Given the description of an element on the screen output the (x, y) to click on. 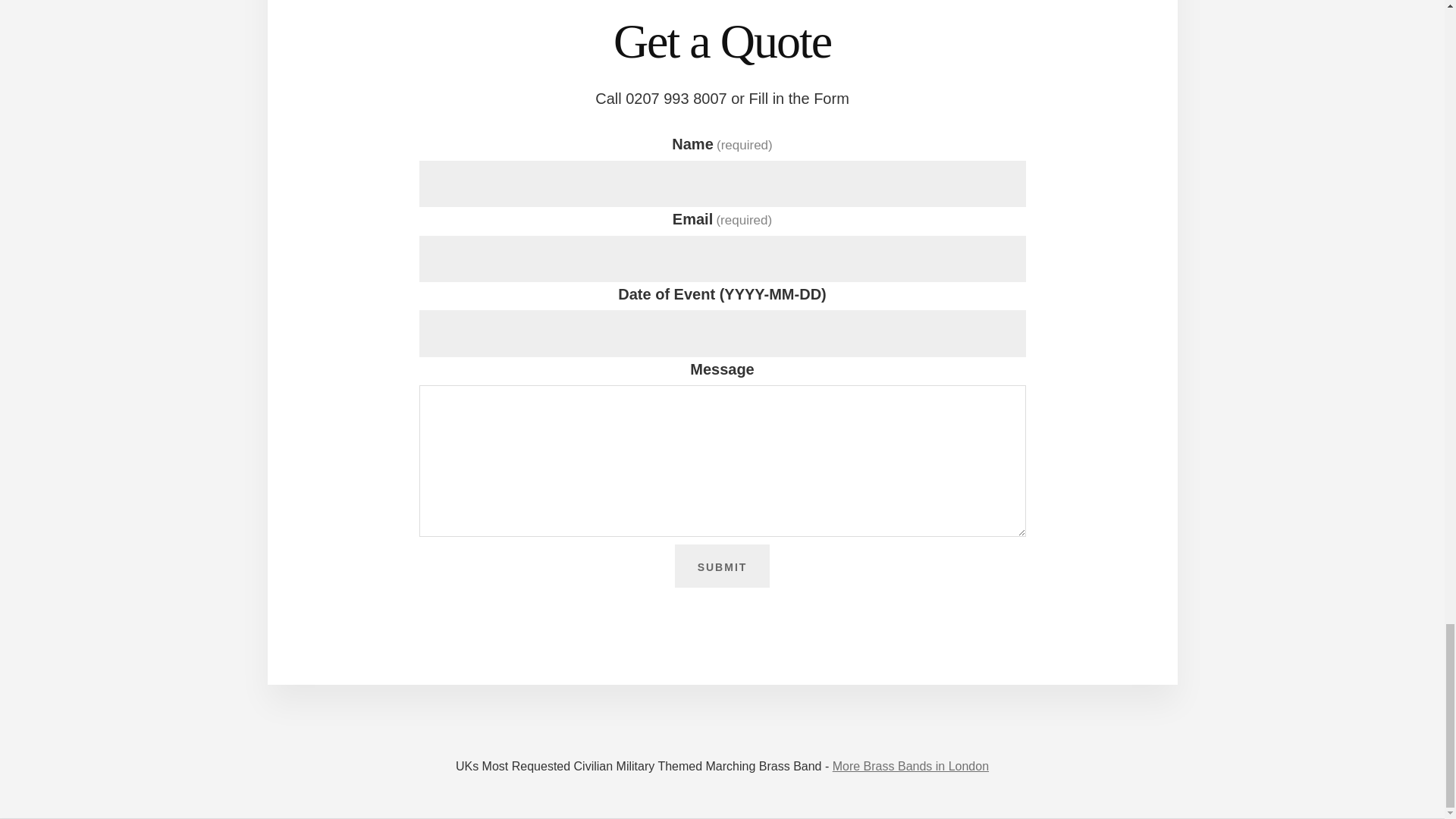
More Brass Bands in London (910, 766)
SUBMIT (722, 566)
